Given the description of an element on the screen output the (x, y) to click on. 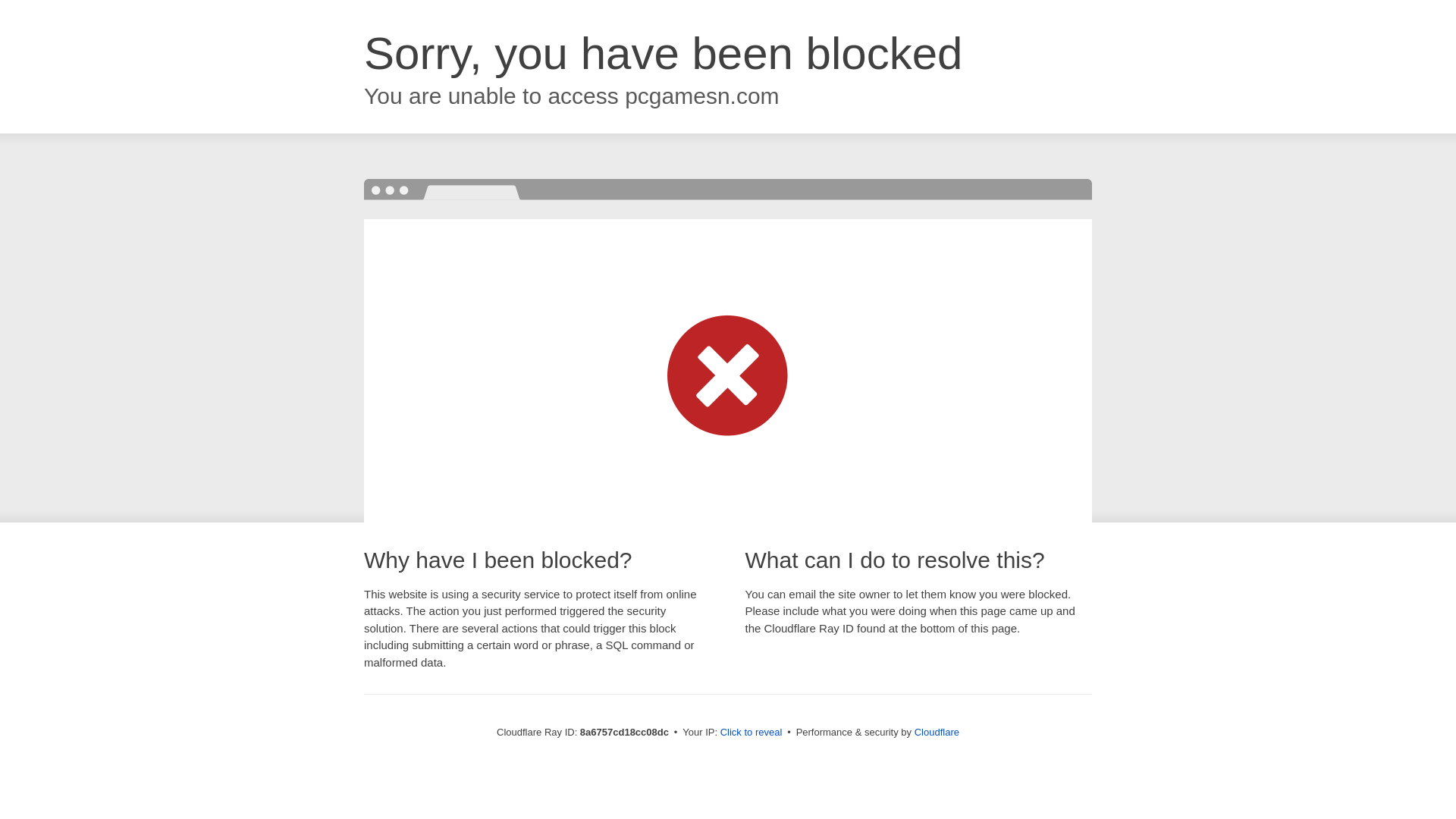
Click to reveal (751, 732)
Cloudflare (936, 731)
